Given the description of an element on the screen output the (x, y) to click on. 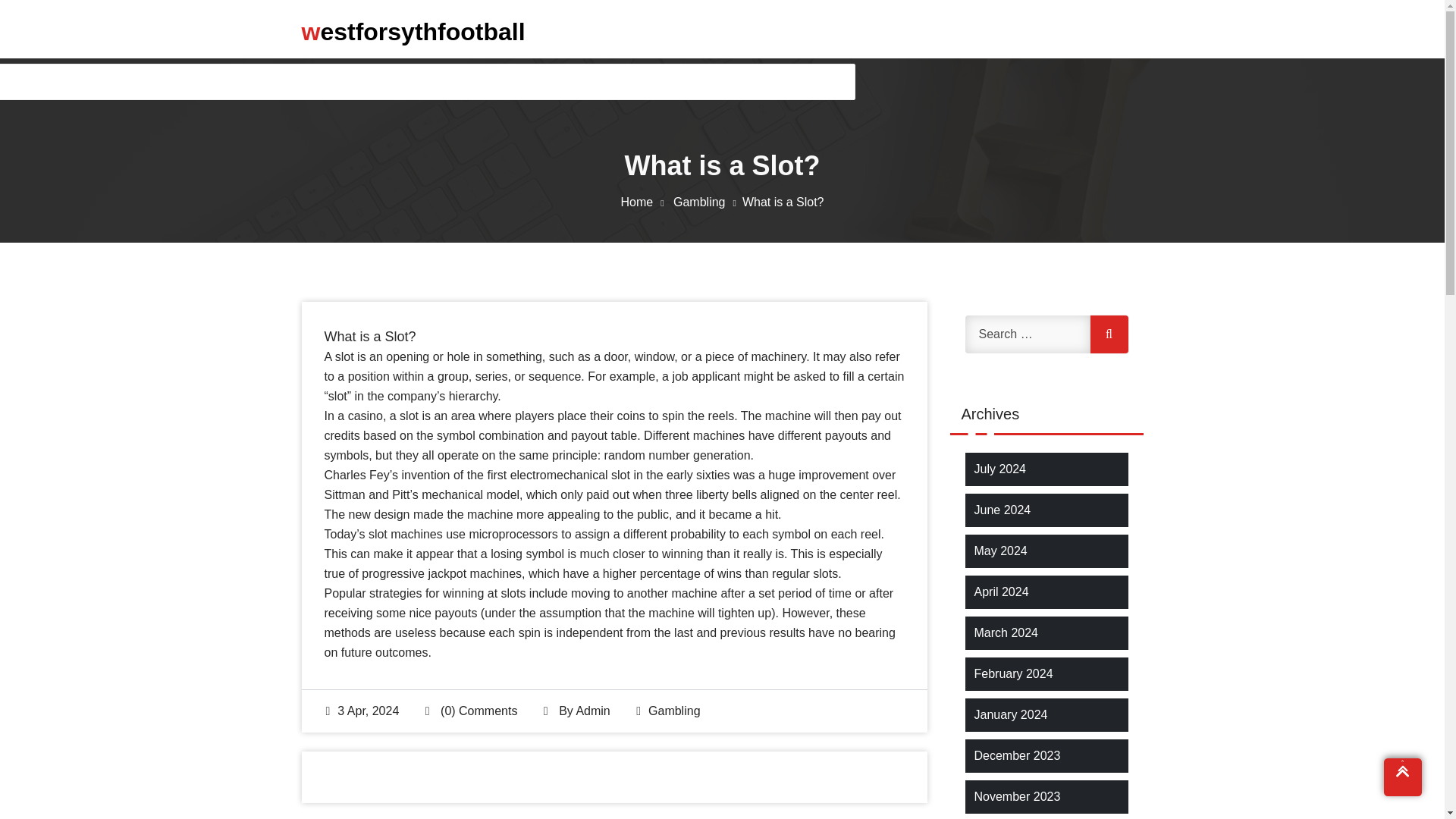
April 2024 (1000, 592)
June 2024 (1002, 510)
November 2023 (1016, 796)
February 2024 (1013, 674)
Gambling (707, 201)
December 2023 (1016, 755)
March 2024 (1006, 633)
July 2024 (1000, 469)
westforsythfootball (413, 31)
January 2024 (1010, 714)
Admin (592, 710)
May 2024 (1000, 551)
Gambling (673, 710)
Home (644, 201)
3 Apr, 2024 (362, 710)
